Given the description of an element on the screen output the (x, y) to click on. 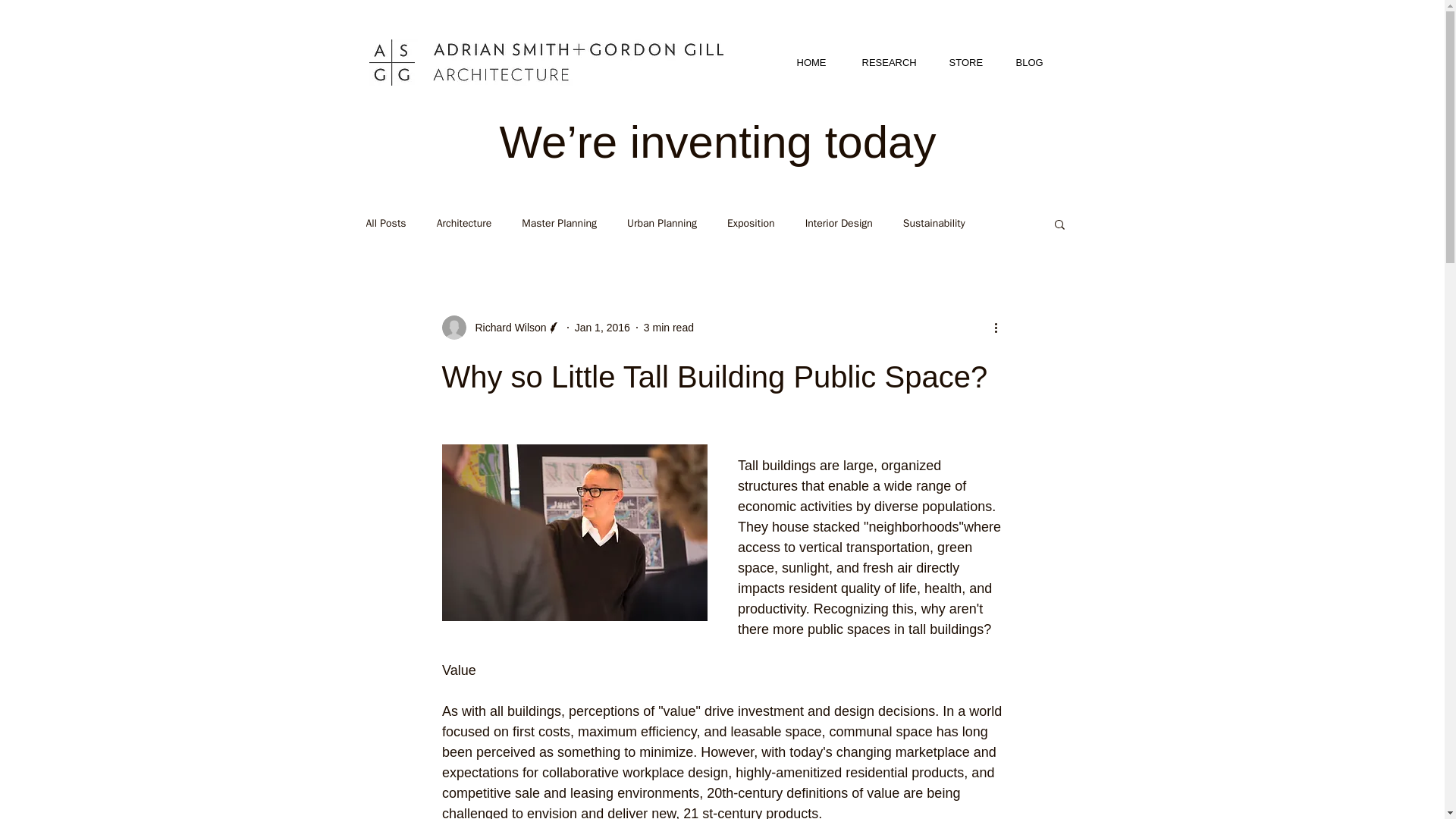
Exposition (750, 223)
All Posts (385, 223)
Master Planning (558, 223)
RESEARCH (893, 62)
Architecture (464, 223)
Urban Planning (662, 223)
Richard Wilson (505, 327)
Sustainability (933, 223)
Interior Design (838, 223)
STORE (970, 62)
Richard Wilson (500, 327)
BLOG (1034, 62)
HOME (818, 62)
Jan 1, 2016 (602, 327)
3 min read (668, 327)
